Given the description of an element on the screen output the (x, y) to click on. 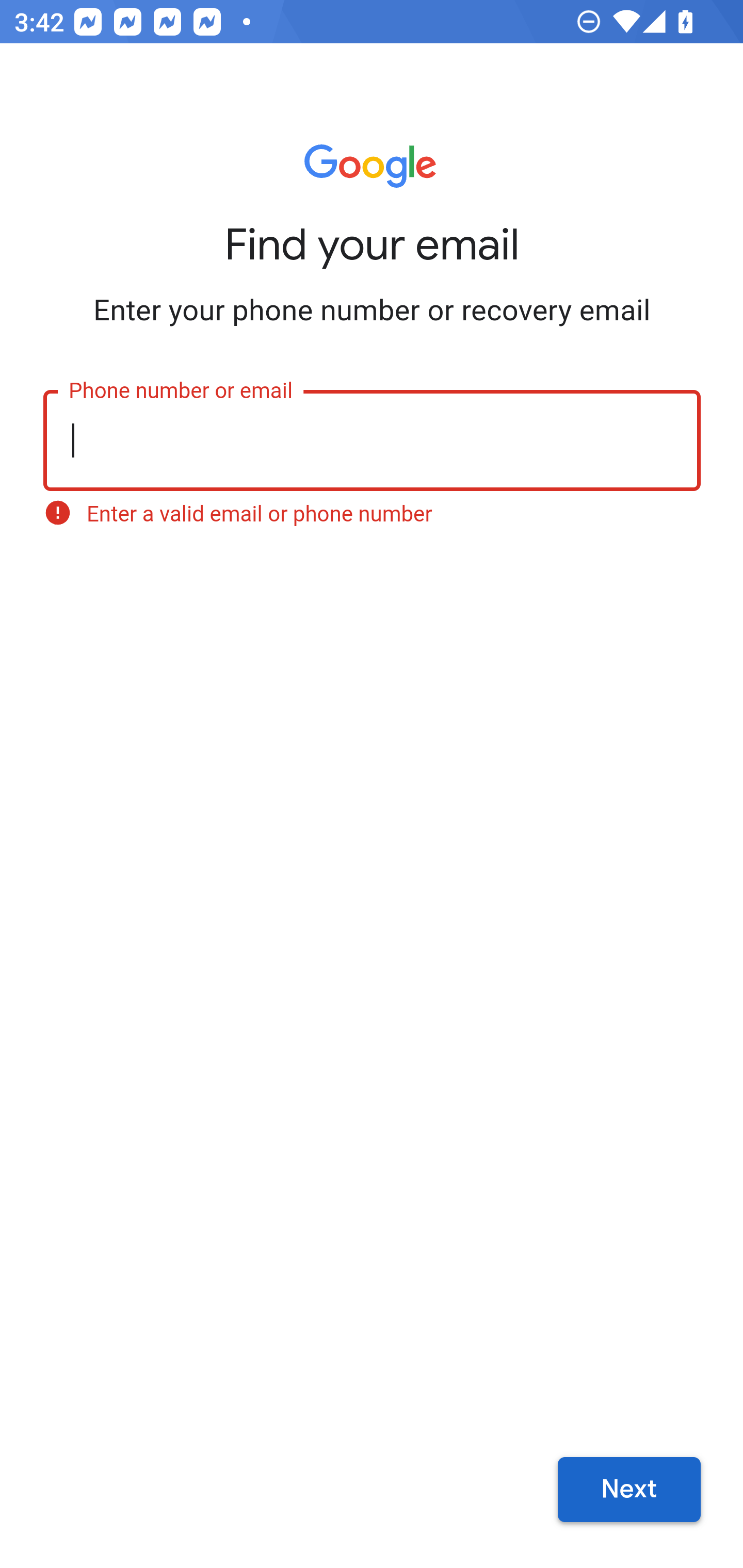
Next (629, 1490)
